Given the description of an element on the screen output the (x, y) to click on. 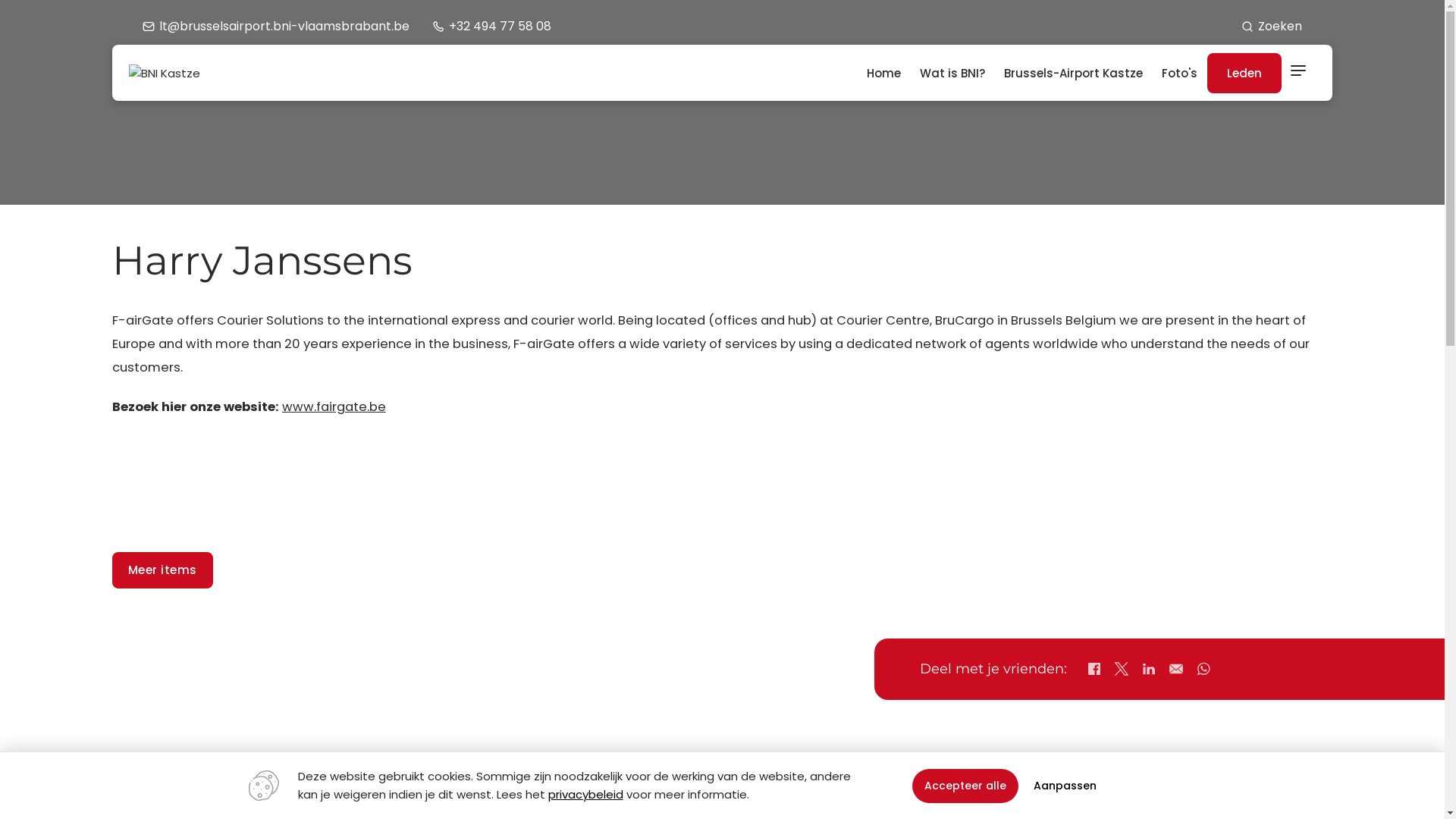
Leden Element type: text (1244, 73)
Home Element type: text (883, 72)
Meer items Element type: text (162, 569)
Share via X Element type: hover (1121, 668)
Foto's Element type: text (1179, 72)
www.fairgate.be Element type: text (333, 406)
lt@brusselsairport.bni-vlaamsbrabant.be Element type: text (275, 26)
Share via linkedin Element type: hover (1148, 668)
Zoeken Element type: text (1271, 26)
Brussels-Airport Kastze Element type: text (1073, 72)
Share via whatsapp Element type: hover (1203, 668)
Share via facebook Element type: hover (1093, 668)
+32 494 77 58 08 Element type: text (491, 26)
Aanpassen Element type: text (1063, 785)
Share via mail Element type: hover (1175, 668)
BNI Kastze Element type: hover (164, 72)
Wat is BNI? Element type: text (952, 72)
privacybeleid Element type: text (584, 794)
Toggle navigation Element type: hover (1298, 72)
Accepteer alle Element type: text (964, 785)
